Given the description of an element on the screen output the (x, y) to click on. 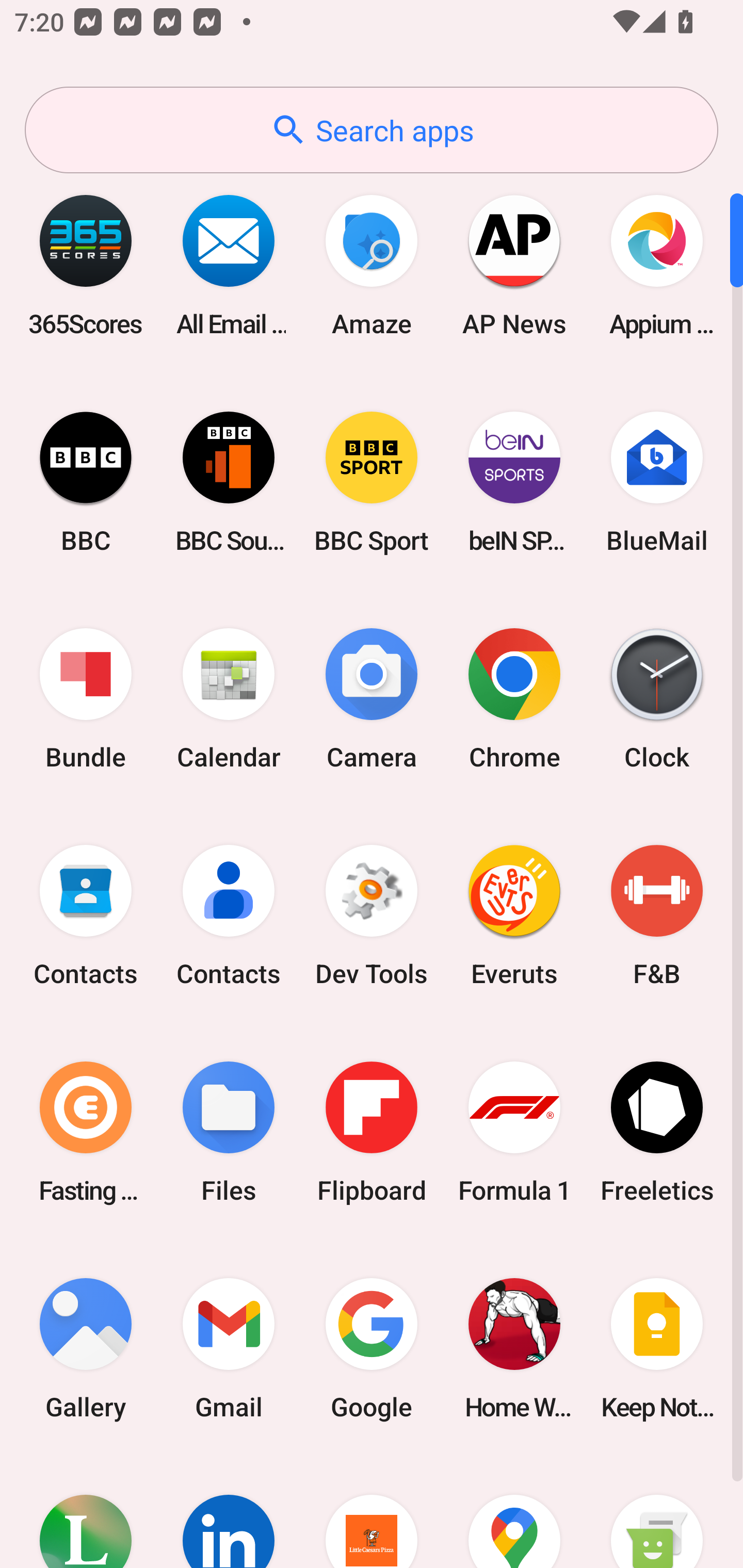
  Search apps (371, 130)
365Scores (85, 264)
All Email Connect (228, 264)
Amaze (371, 264)
AP News (514, 264)
Appium Settings (656, 264)
BBC (85, 482)
BBC Sounds (228, 482)
BBC Sport (371, 482)
beIN SPORTS (514, 482)
BlueMail (656, 482)
Bundle (85, 699)
Calendar (228, 699)
Camera (371, 699)
Chrome (514, 699)
Clock (656, 699)
Contacts (85, 915)
Contacts (228, 915)
Dev Tools (371, 915)
Everuts (514, 915)
F&B (656, 915)
Fasting Coach (85, 1131)
Files (228, 1131)
Flipboard (371, 1131)
Formula 1 (514, 1131)
Freeletics (656, 1131)
Gallery (85, 1348)
Gmail (228, 1348)
Google (371, 1348)
Home Workout (514, 1348)
Keep Notes (656, 1348)
Lifesum (85, 1512)
LinkedIn (228, 1512)
Little Caesars Pizza (371, 1512)
Maps (514, 1512)
Messaging (656, 1512)
